Given the description of an element on the screen output the (x, y) to click on. 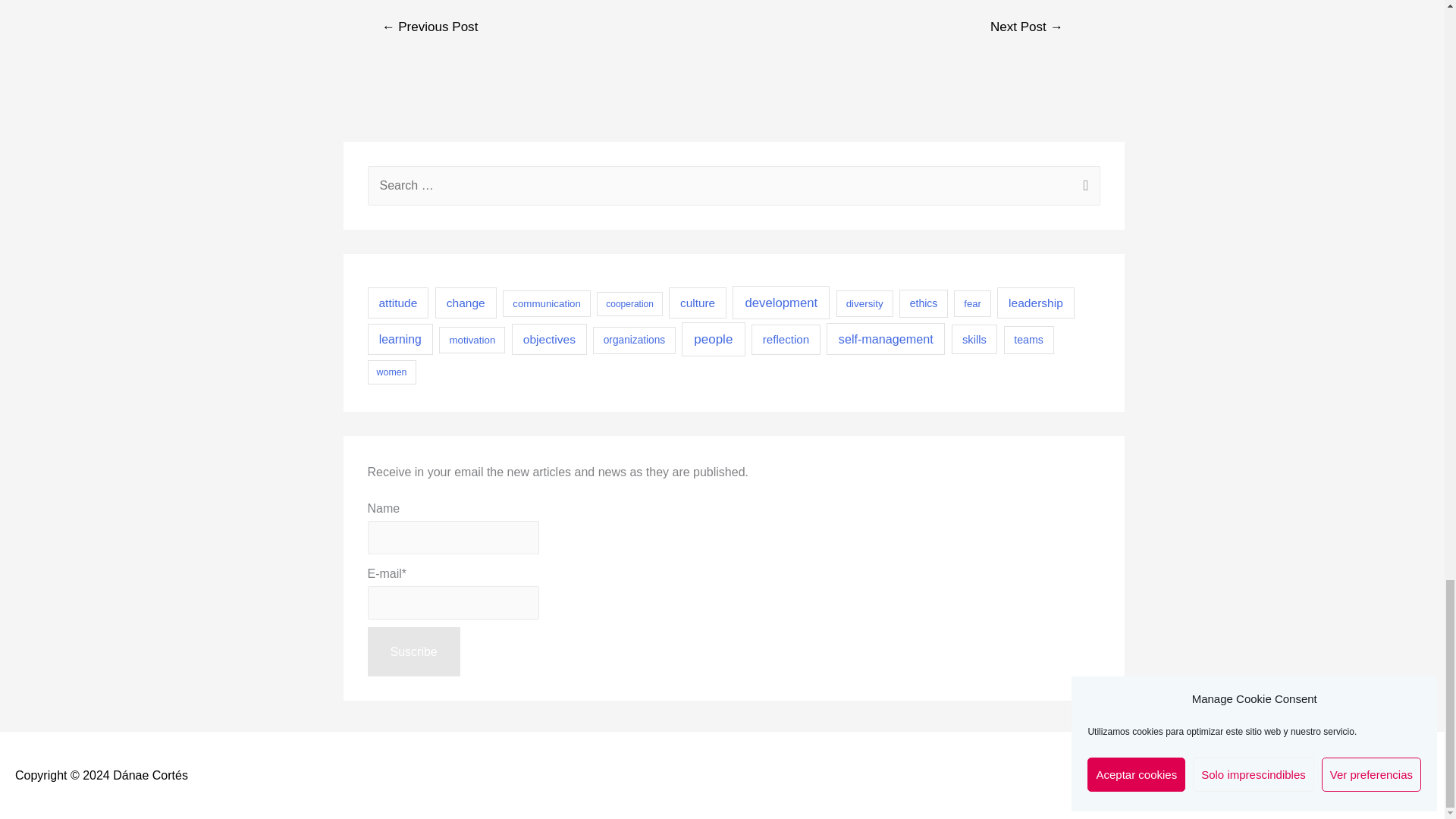
change (465, 302)
Suscribe (413, 652)
culture (697, 302)
attitude (397, 302)
cooperation (629, 303)
ethics (923, 303)
development (780, 302)
fear (971, 303)
communication (546, 303)
diversity (864, 303)
